Given the description of an element on the screen output the (x, y) to click on. 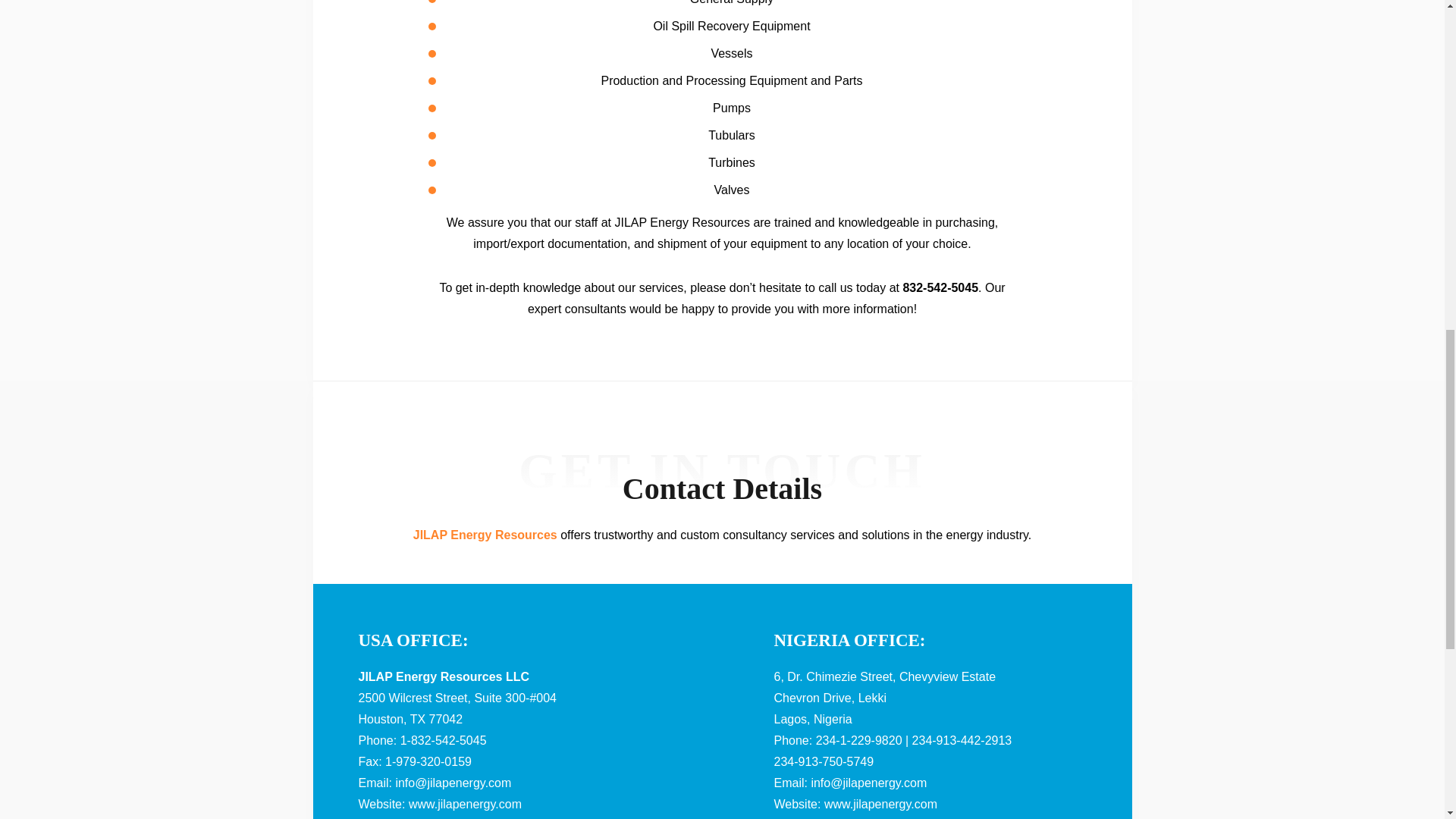
1-832-542-5045 (443, 740)
www.jilapenergy.com (880, 803)
234-913-750-5749 (823, 762)
www.jilapenergy.com (465, 803)
832-542-5045 (940, 287)
234-1-229-9820 (858, 740)
234-913-442-2913 (961, 740)
